Given the description of an element on the screen output the (x, y) to click on. 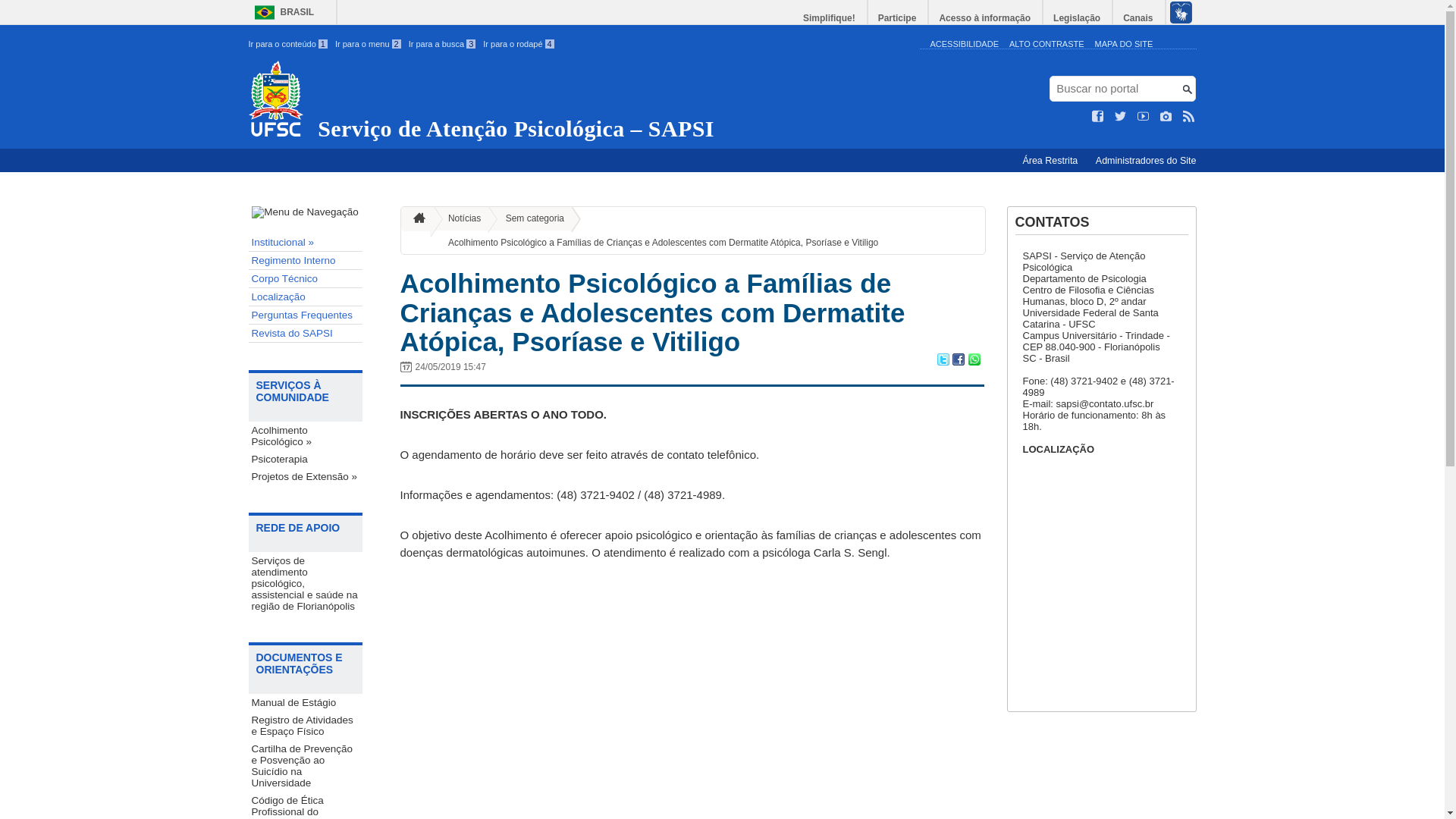
Compartilhar no WhatsApp Element type: hover (973, 360)
Psicoterapia Element type: text (305, 458)
ACESSIBILIDADE Element type: text (963, 43)
Veja no Instagram Element type: hover (1166, 116)
Ir para o menu 2 Element type: text (368, 43)
MAPA DO SITE Element type: text (1124, 43)
Perguntas Frequentes Element type: text (305, 315)
Sem categoria Element type: text (529, 218)
ALTO CONTRASTE Element type: text (1046, 43)
Siga no Twitter Element type: hover (1120, 116)
Curta no Facebook Element type: hover (1098, 116)
BRASIL Element type: text (280, 12)
Canais Element type: text (1138, 18)
Participe Element type: text (898, 18)
Revista do SAPSI Element type: text (305, 333)
Administradores do Site Element type: text (1146, 160)
Simplifique! Element type: text (829, 18)
Ir para a busca 3 Element type: text (442, 43)
Compartilhar no Twitter Element type: hover (943, 360)
Regimento Interno Element type: text (305, 260)
Compartilhar no Facebook Element type: hover (958, 360)
